Given the description of an element on the screen output the (x, y) to click on. 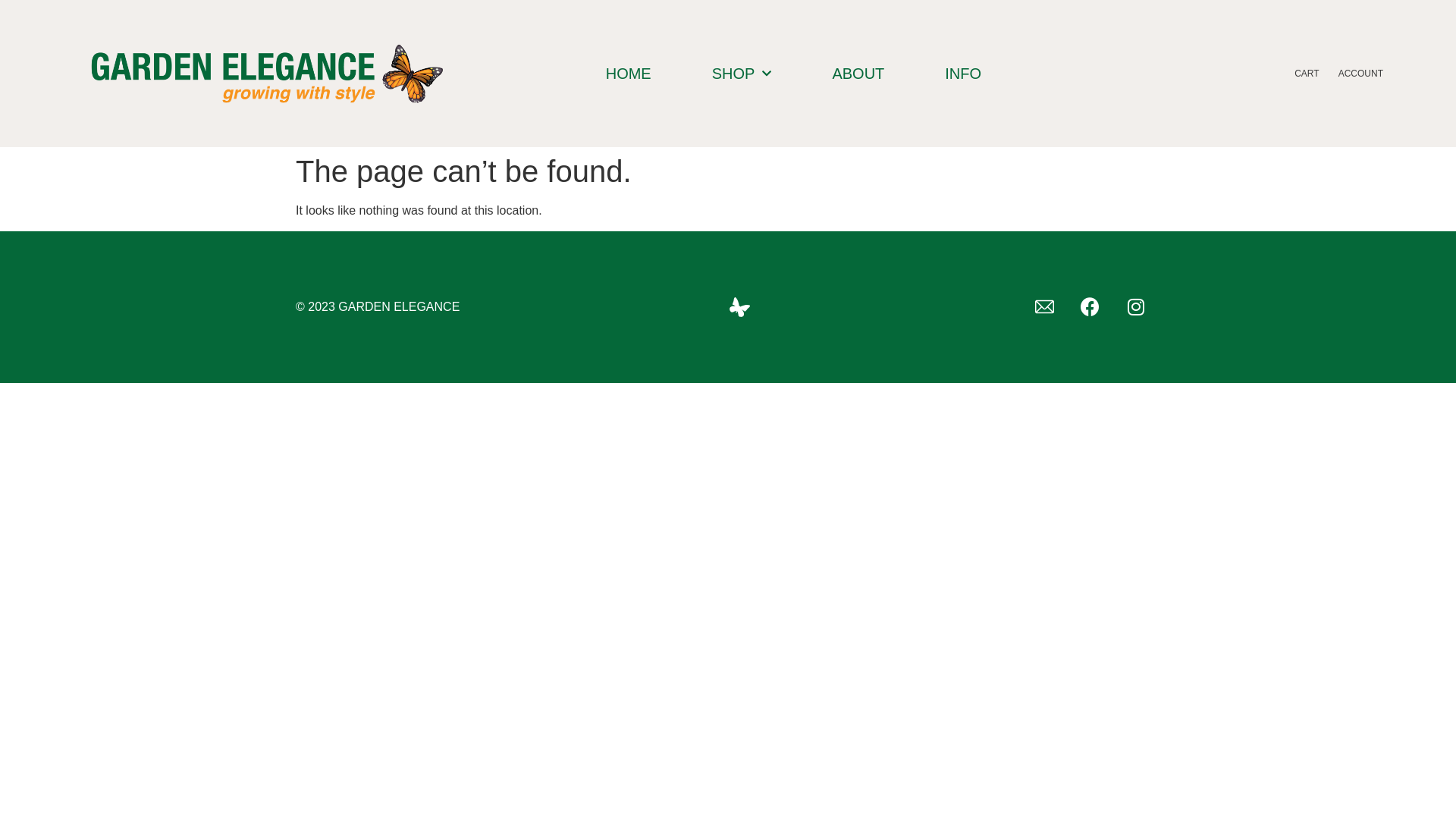
ACCOUNT Element type: text (1360, 73)
ABOUT Element type: text (857, 73)
INFO Element type: text (962, 73)
SHOP Element type: text (741, 73)
CART Element type: text (1306, 73)
HOME Element type: text (628, 73)
